Given the description of an element on the screen output the (x, y) to click on. 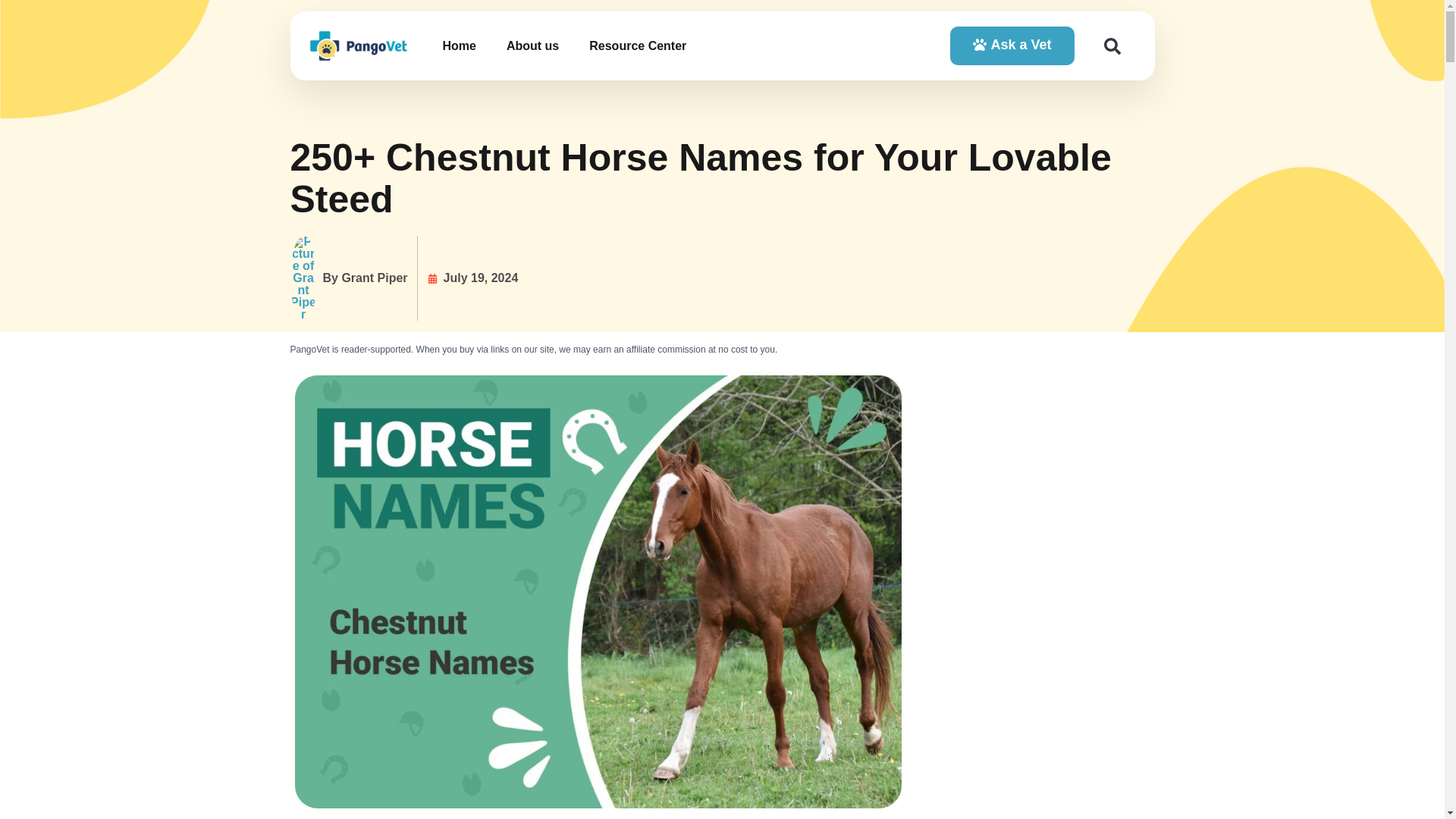
Home (458, 46)
By Grant Piper (348, 278)
Ask a Vet (1012, 45)
About us (532, 46)
Resource Center (637, 46)
